Given the description of an element on the screen output the (x, y) to click on. 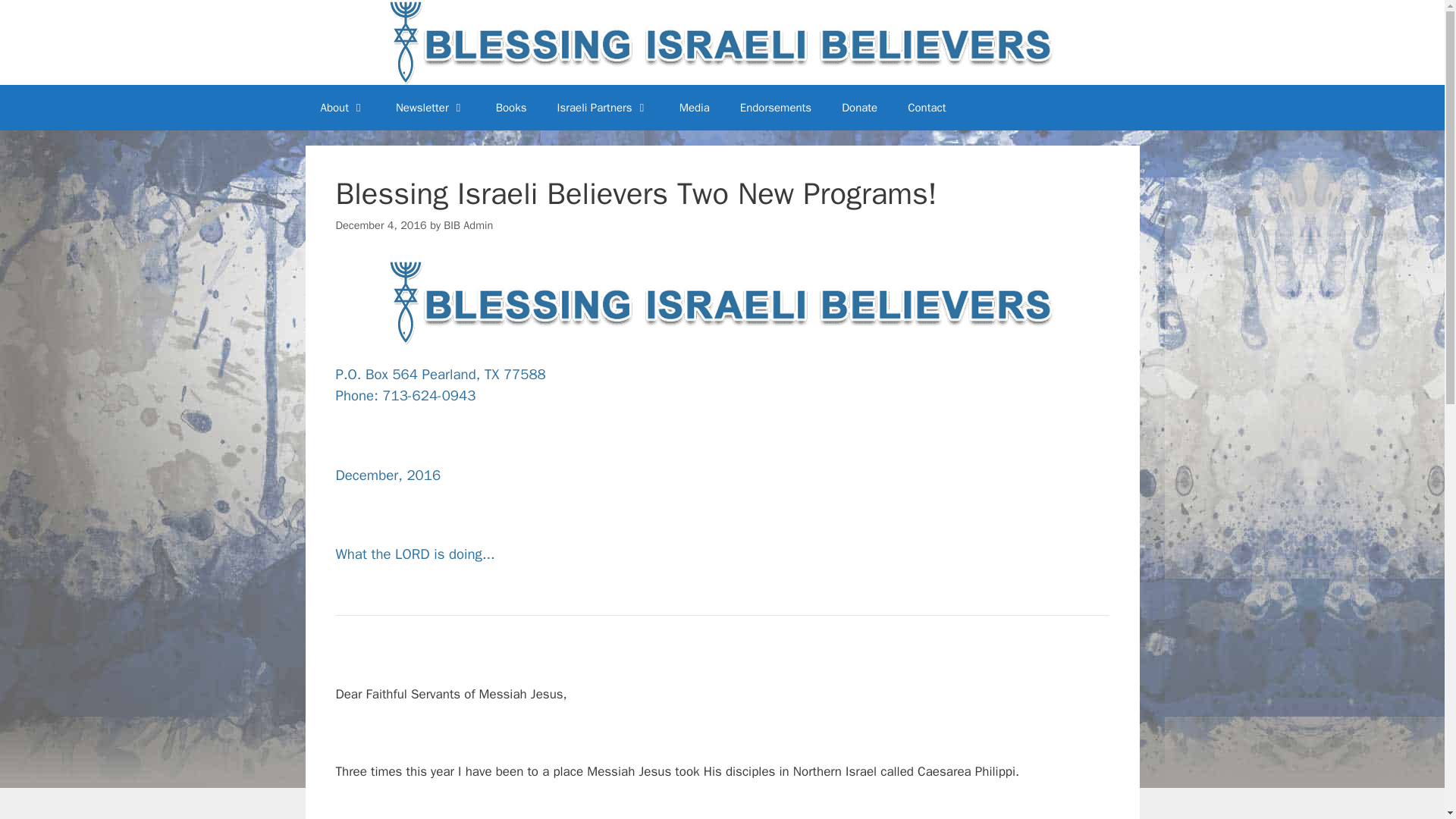
Israeli Partners (602, 107)
Contact (926, 107)
Books (510, 107)
BIB Admin (468, 224)
Donate (859, 107)
Media (694, 107)
About (342, 107)
Newsletter (430, 107)
View all posts by BIB Admin (468, 224)
Endorsements (776, 107)
